Given the description of an element on the screen output the (x, y) to click on. 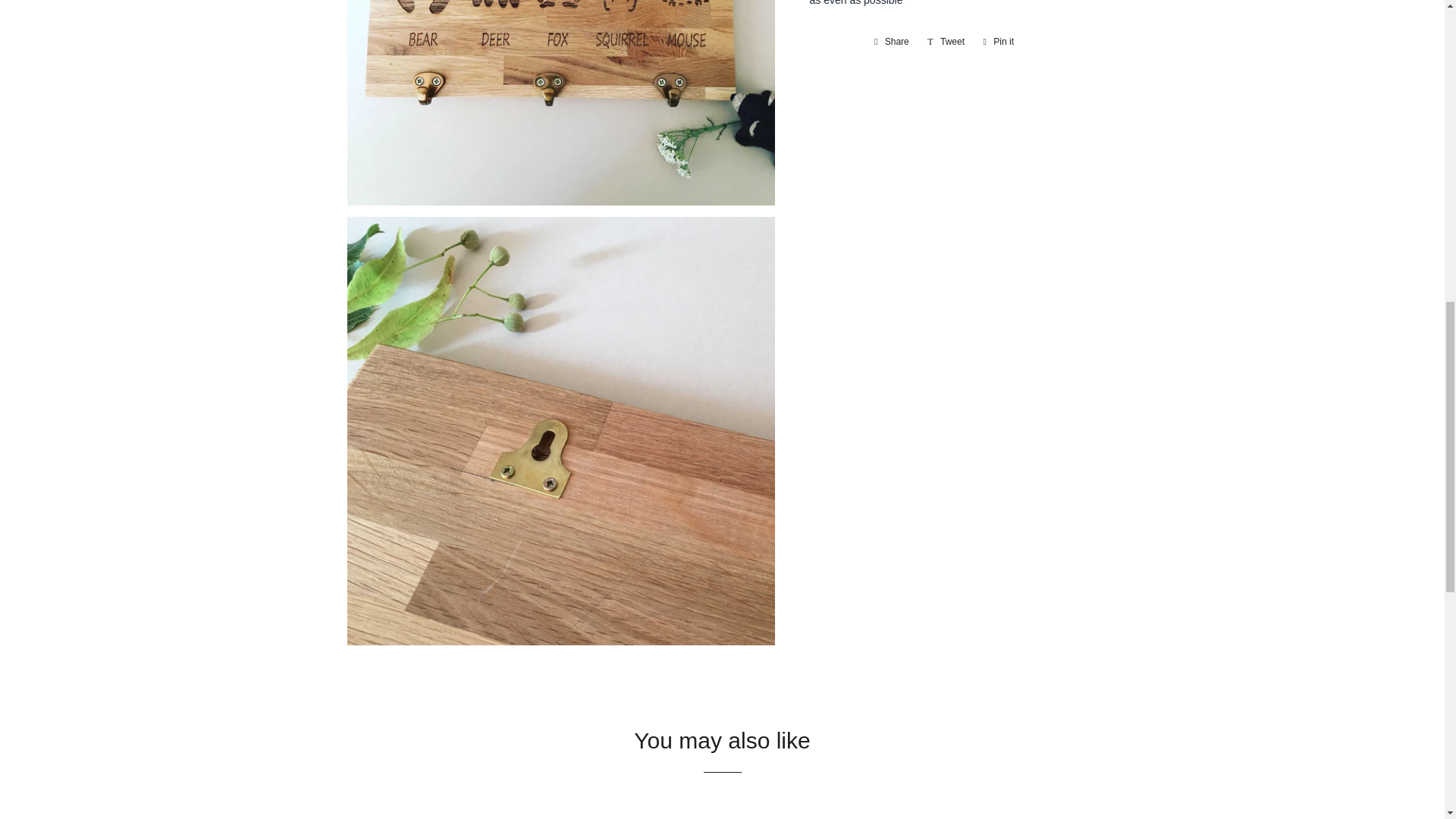
Pin on Pinterest (998, 41)
Share on Facebook (998, 41)
Tweet on Twitter (891, 41)
